Given the description of an element on the screen output the (x, y) to click on. 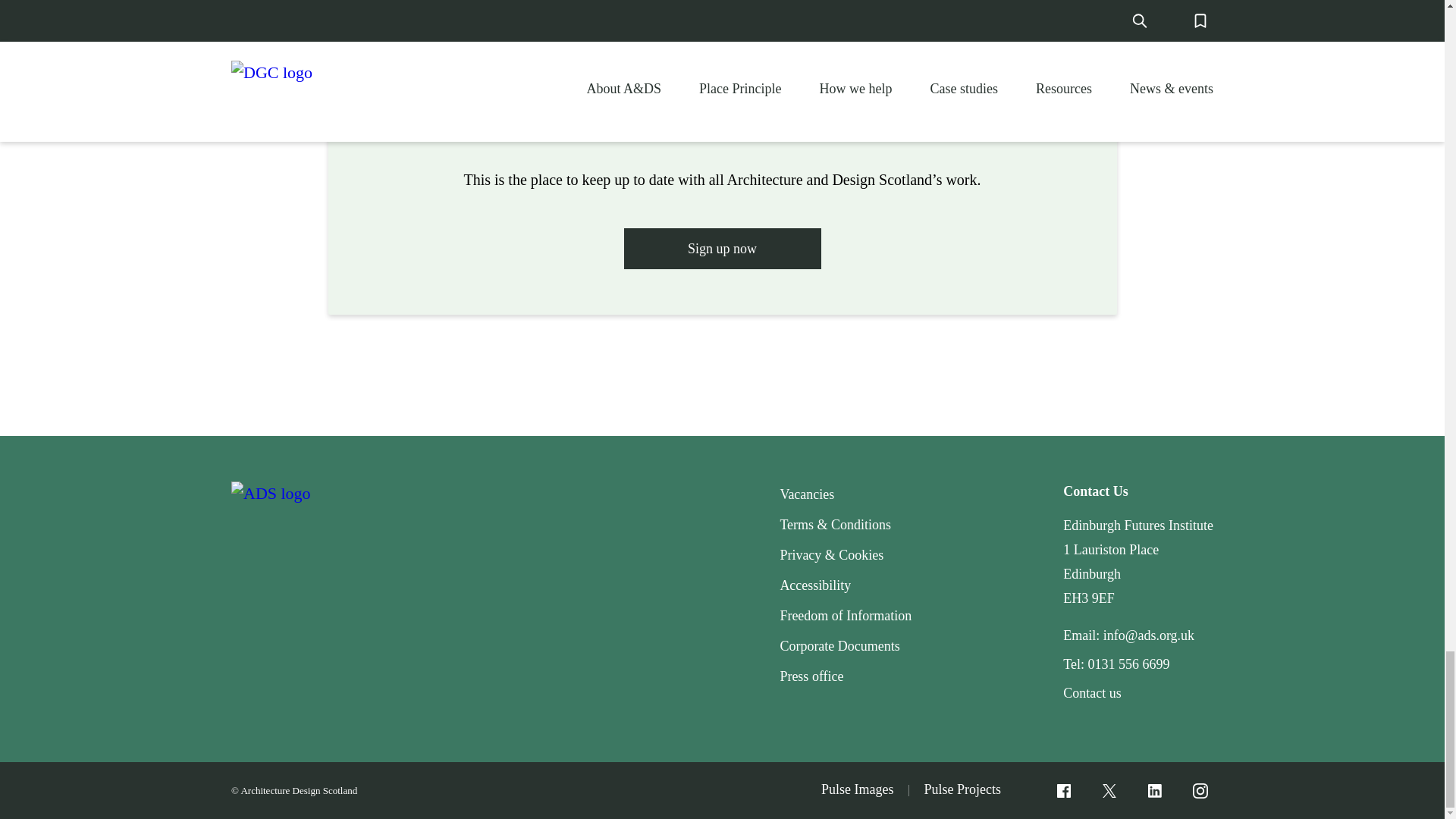
Pulse Projects (962, 790)
Vacancies (806, 493)
Tel: 0131 556 6699 (1115, 664)
Corporate Documents (838, 646)
Pulse Images (857, 790)
Freedom of Information (844, 615)
Sign up now (722, 247)
Contact us (1091, 692)
Press office (810, 676)
Sign up now (722, 248)
Accessibility (814, 585)
Instagram (1199, 790)
Linked (1154, 790)
Facebook (1063, 790)
